Given the description of an element on the screen output the (x, y) to click on. 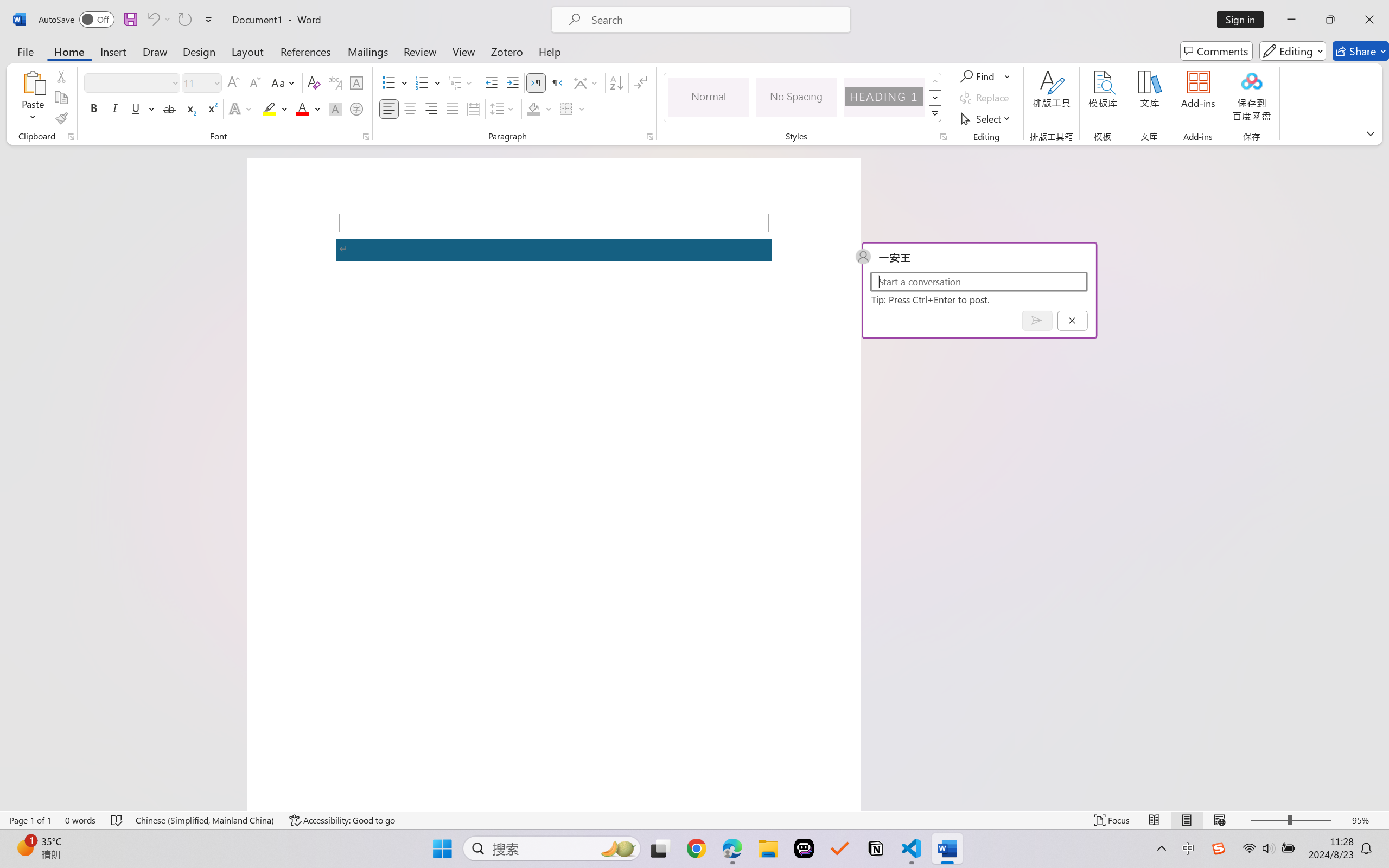
Sign in (1244, 19)
